Given the description of an element on the screen output the (x, y) to click on. 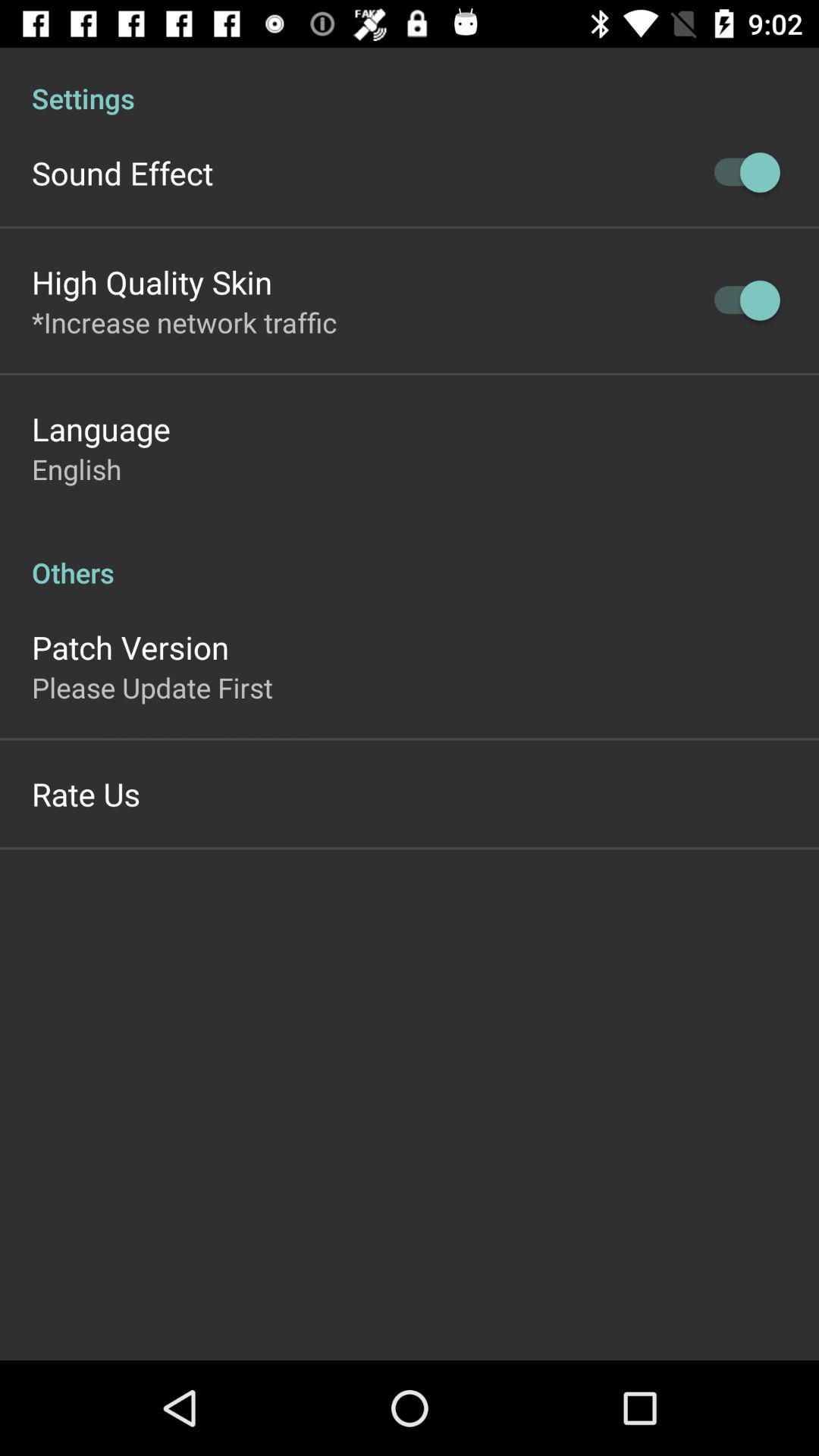
tap the app above the others (76, 468)
